Given the description of an element on the screen output the (x, y) to click on. 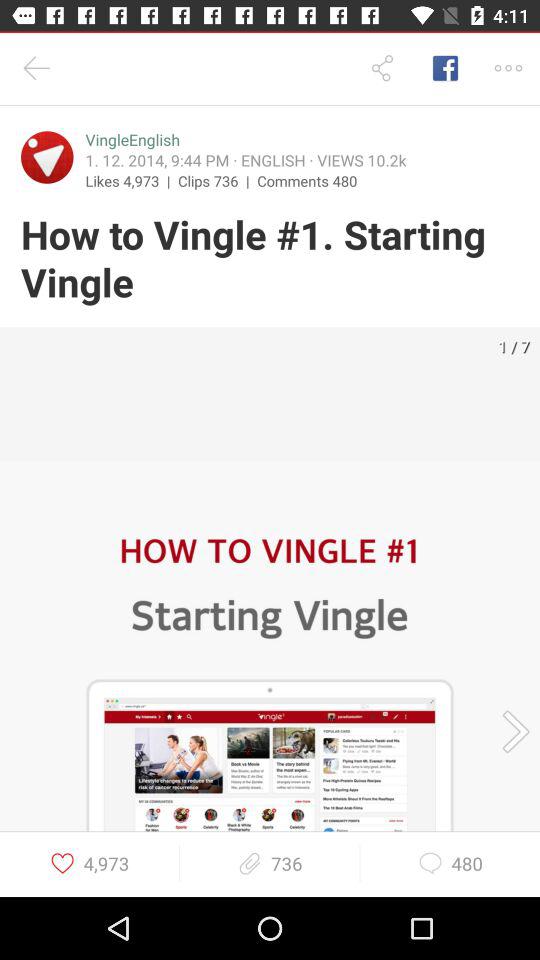
jump until how to vingle icon (270, 260)
